Given the description of an element on the screen output the (x, y) to click on. 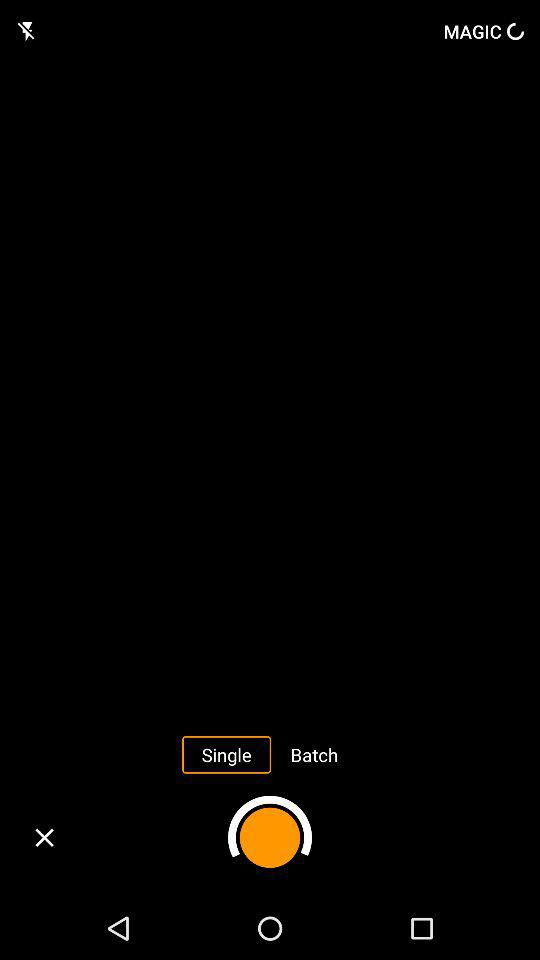
click item at the top left corner (27, 31)
